Given the description of an element on the screen output the (x, y) to click on. 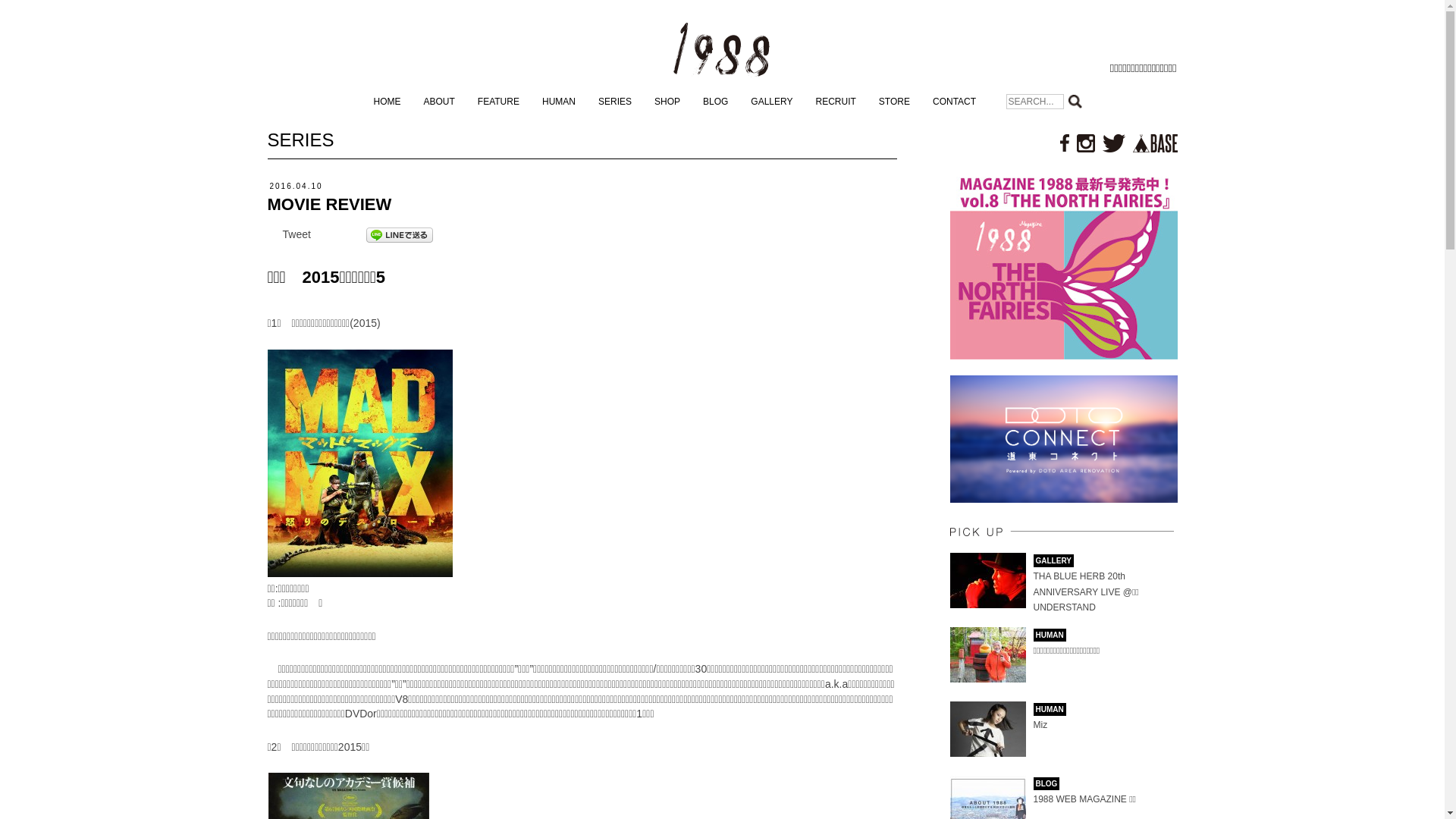
Miz Element type: text (1039, 724)
HOME Element type: text (386, 101)
CONTACT Element type: text (953, 101)
BLOG Element type: text (715, 101)
SERIES Element type: text (614, 101)
GALLERY Element type: text (771, 101)
ABOUT Element type: text (438, 101)
Tweet Element type: text (296, 234)
SHOP Element type: text (667, 101)
RECRUIT Element type: text (835, 101)
HUMAN Element type: text (558, 101)
FEATURE Element type: text (498, 101)
STORE Element type: text (894, 101)
